Given the description of an element on the screen output the (x, y) to click on. 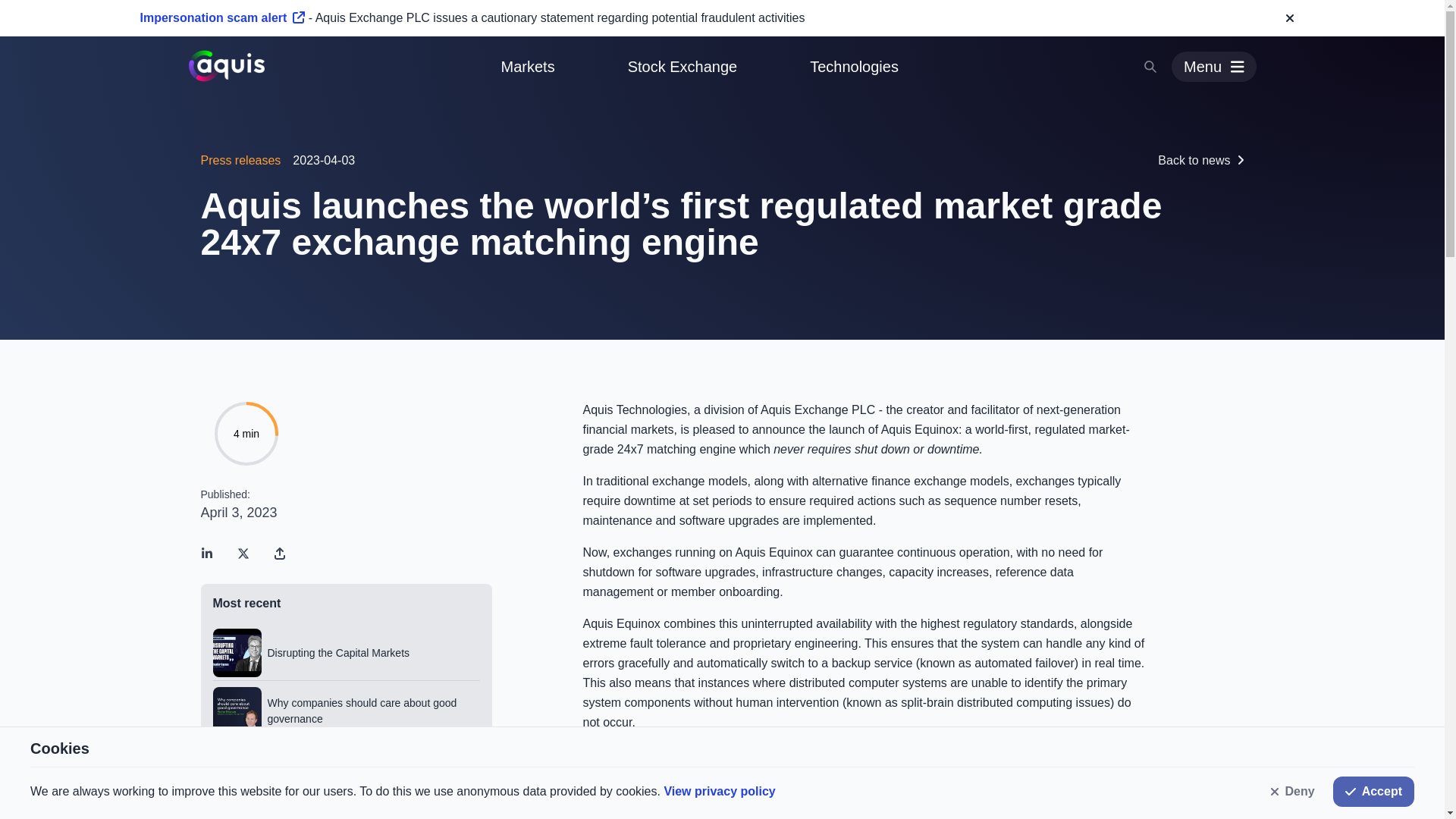
4 min (245, 433)
Accept (1373, 791)
Deny (1291, 791)
View privacy policy (718, 790)
Stock Exchange (682, 66)
Markets (527, 66)
Impersonation scam alert (221, 17)
Technologies (853, 66)
